Given the description of an element on the screen output the (x, y) to click on. 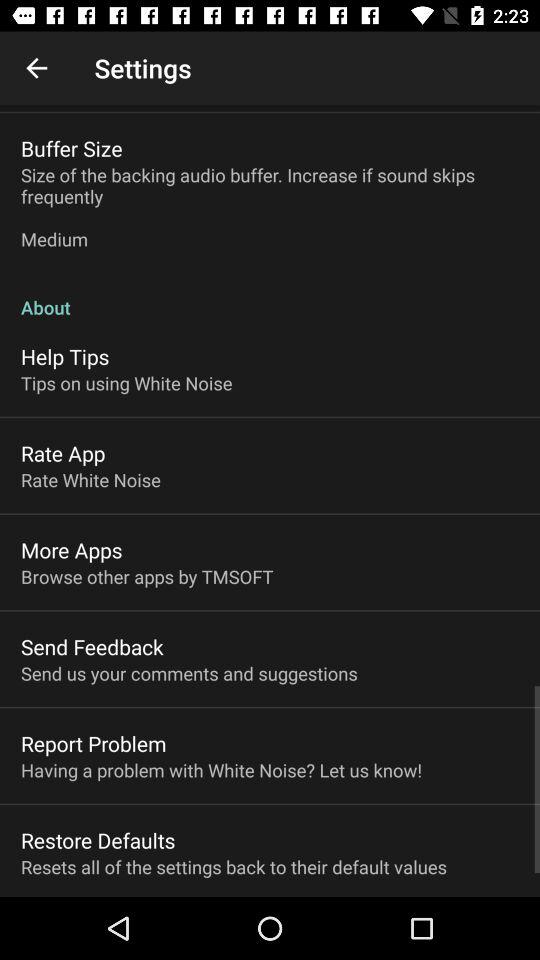
tap icon to the left of settings (36, 68)
